Given the description of an element on the screen output the (x, y) to click on. 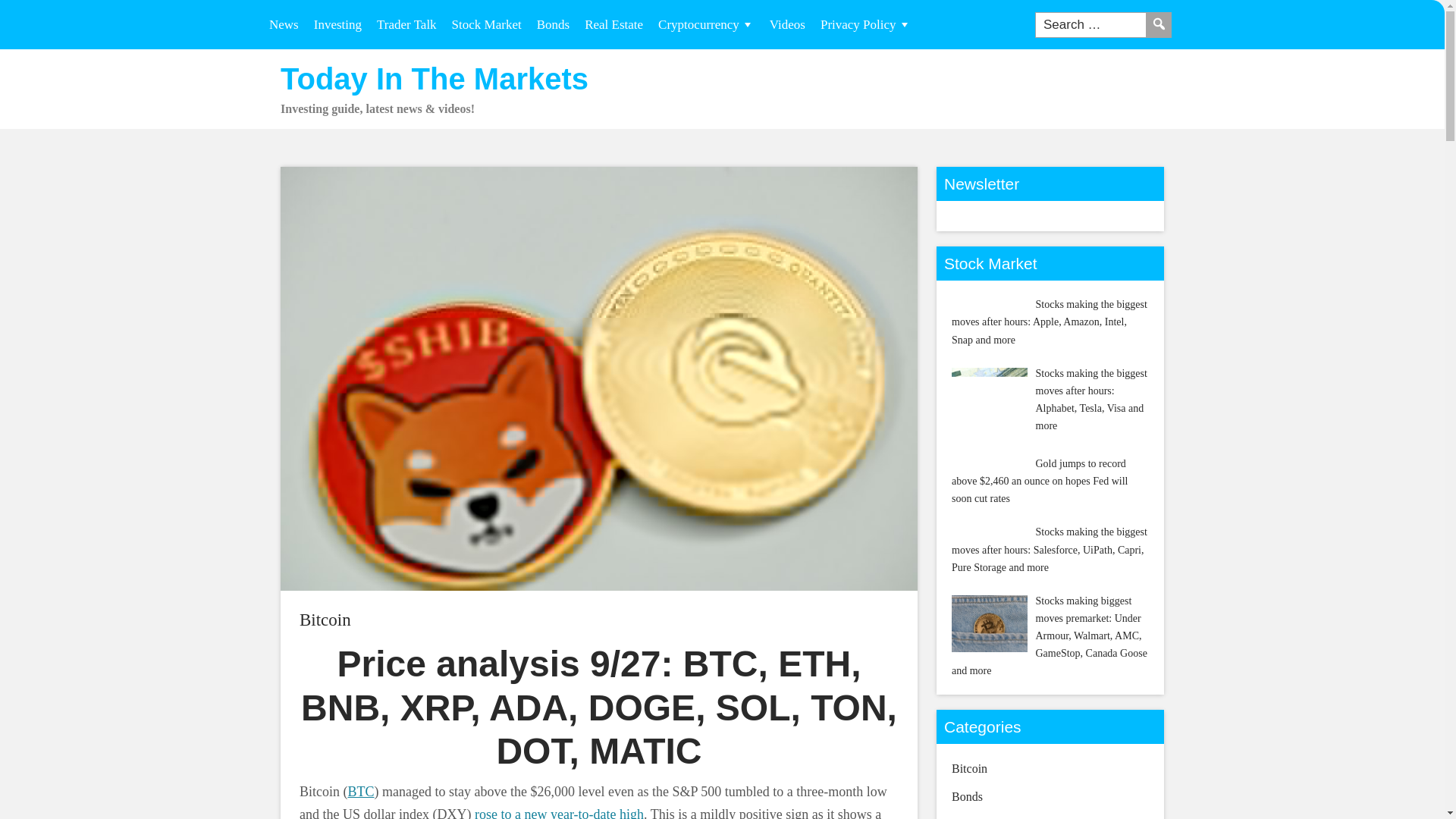
Bitcoin (324, 619)
Privacy Policy (865, 24)
Today In The Markets (434, 78)
Bonds (552, 24)
Investing (337, 24)
Trader Talk (406, 24)
Bitcoin (324, 619)
Cryptocurrency (705, 24)
rose to a new year-to-date high (558, 812)
BTC (360, 791)
